Given the description of an element on the screen output the (x, y) to click on. 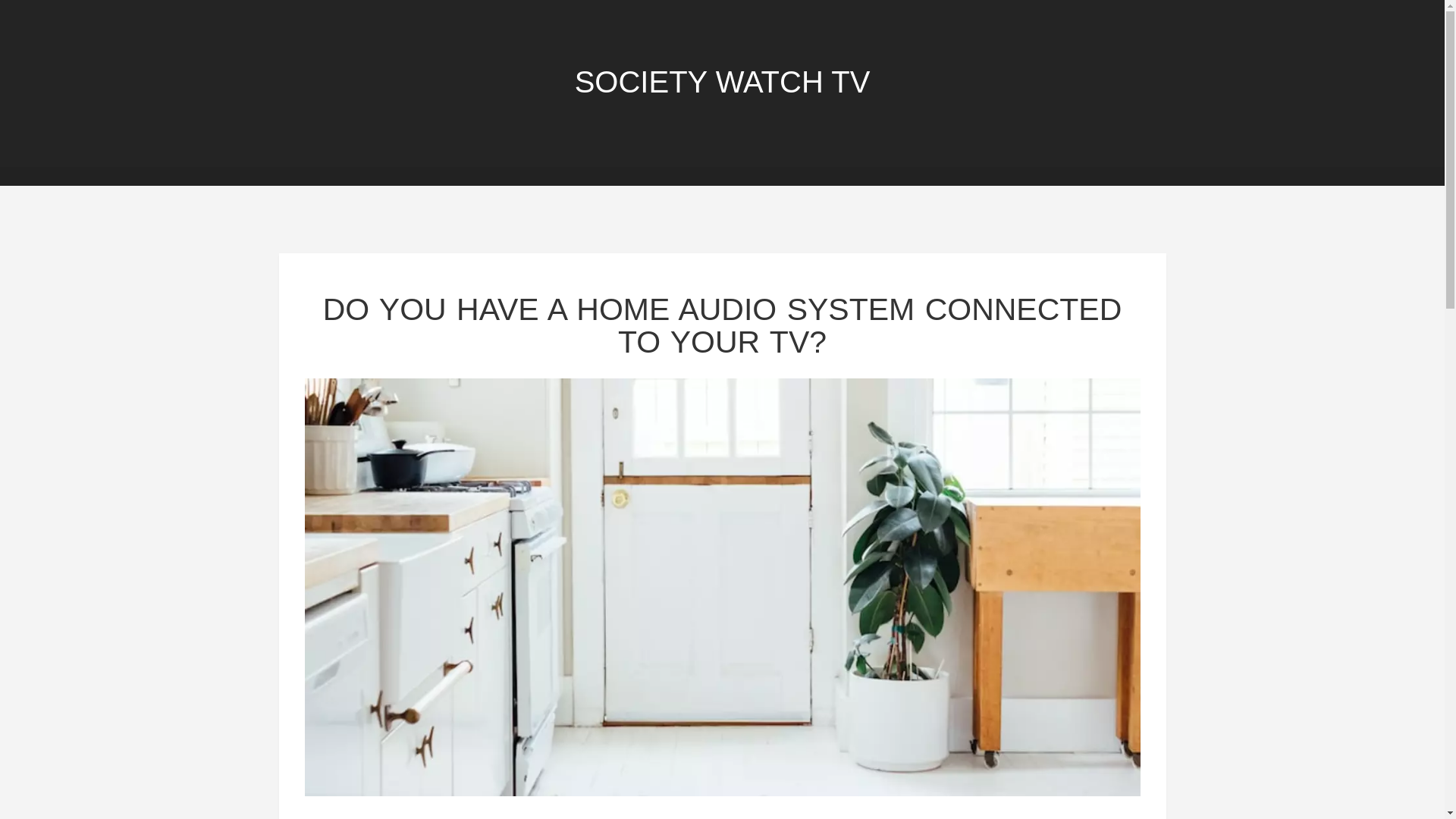
SOCIETY WATCH TV (722, 81)
